Given the description of an element on the screen output the (x, y) to click on. 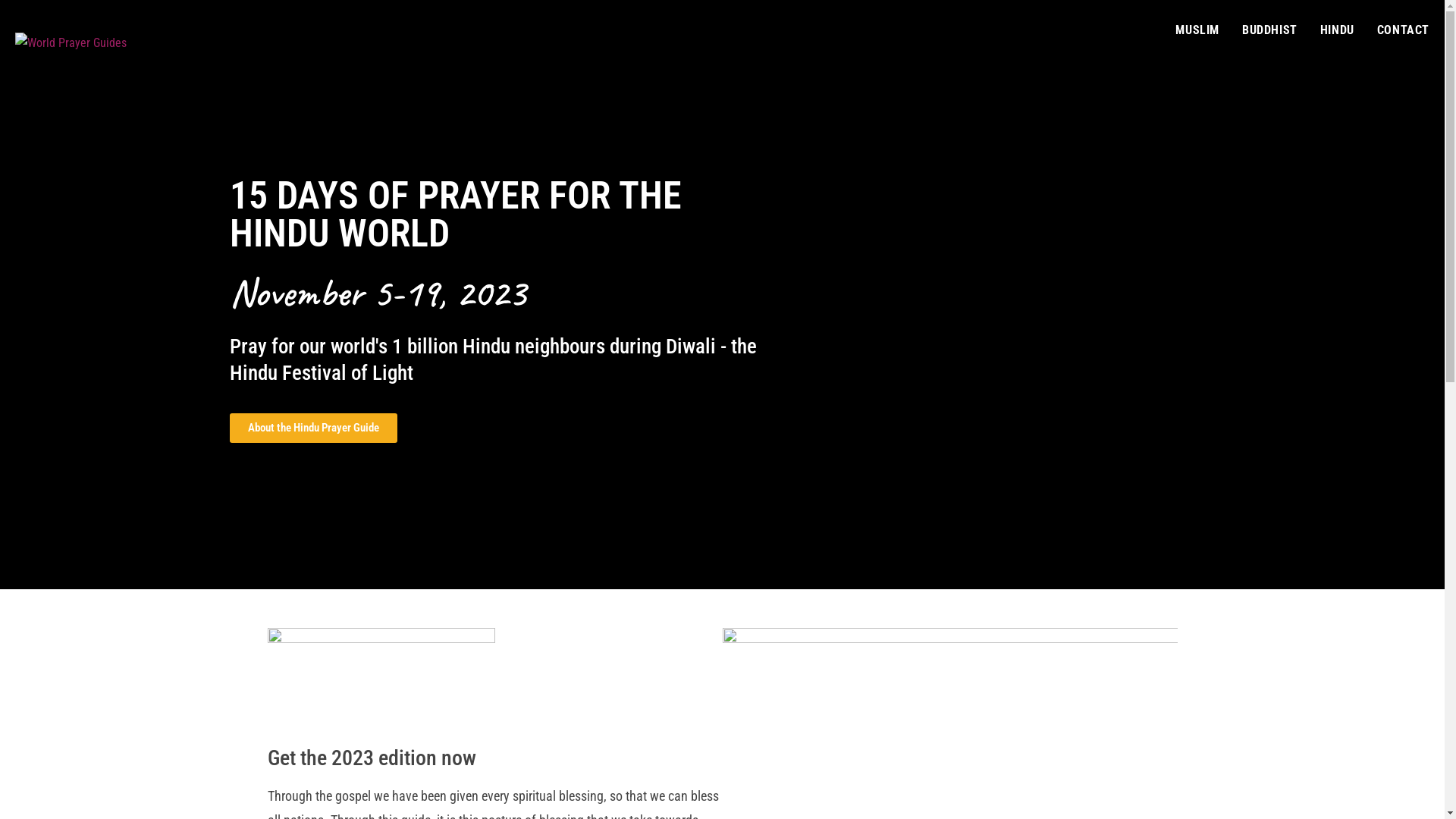
BUDDHIST Element type: text (1269, 30)
About the Hindu Prayer Guide Element type: text (312, 427)
HINDU Element type: text (1336, 30)
CONTACT Element type: text (1402, 30)
MUSLIM Element type: text (1197, 30)
